Given the description of an element on the screen output the (x, y) to click on. 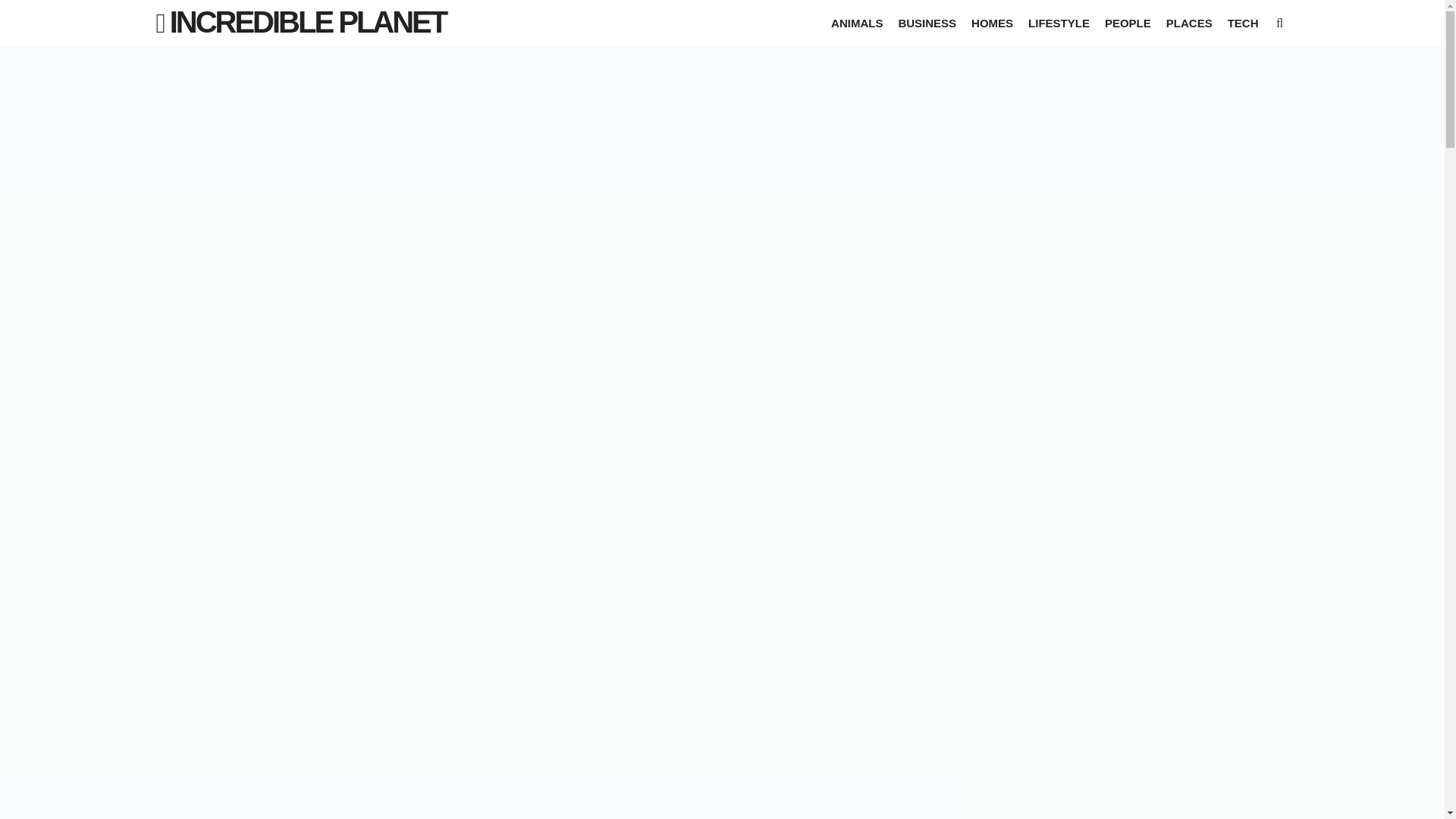
Search (25, 11)
TECH (1243, 22)
PLACES (1189, 22)
INCREDIBLE PLANET (308, 21)
ANIMALS (856, 22)
BUSINESS (927, 22)
HOMES (992, 22)
PEOPLE (1128, 22)
LIFESTYLE (1058, 22)
